Given the description of an element on the screen output the (x, y) to click on. 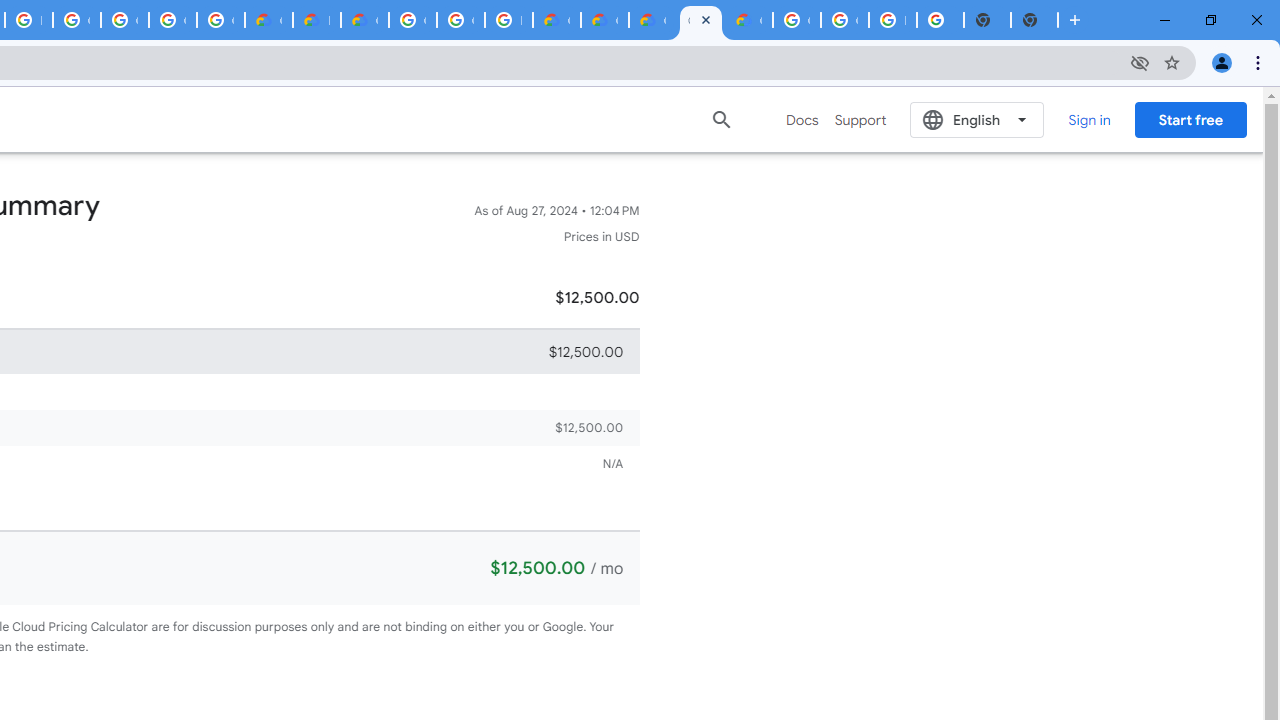
Gemini for Business and Developers | Google Cloud (364, 20)
Google Cloud Service Health (748, 20)
Google Cloud Platform (796, 20)
Customer Care | Google Cloud (268, 20)
Google Workspace - Specific Terms (172, 20)
Google Cloud Platform (844, 20)
Google Cloud Pricing Calculator (604, 20)
